Given the description of an element on the screen output the (x, y) to click on. 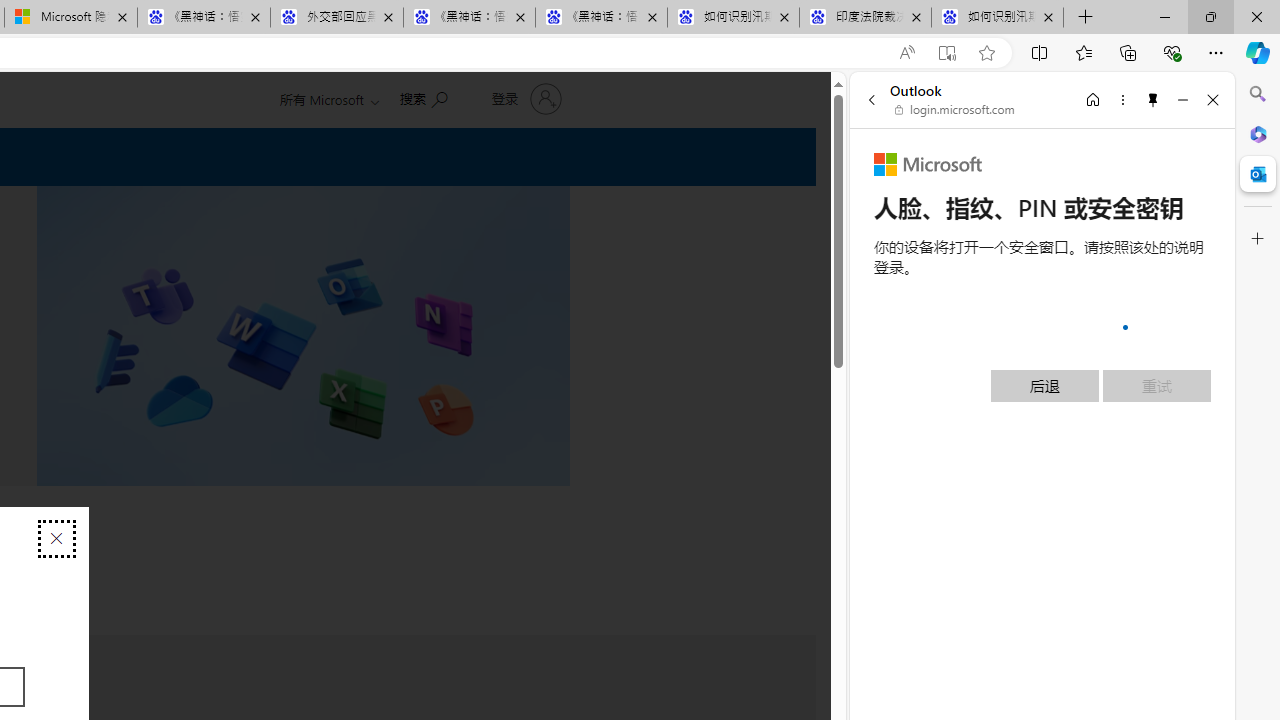
Home (1093, 99)
